Given the description of an element on the screen output the (x, y) to click on. 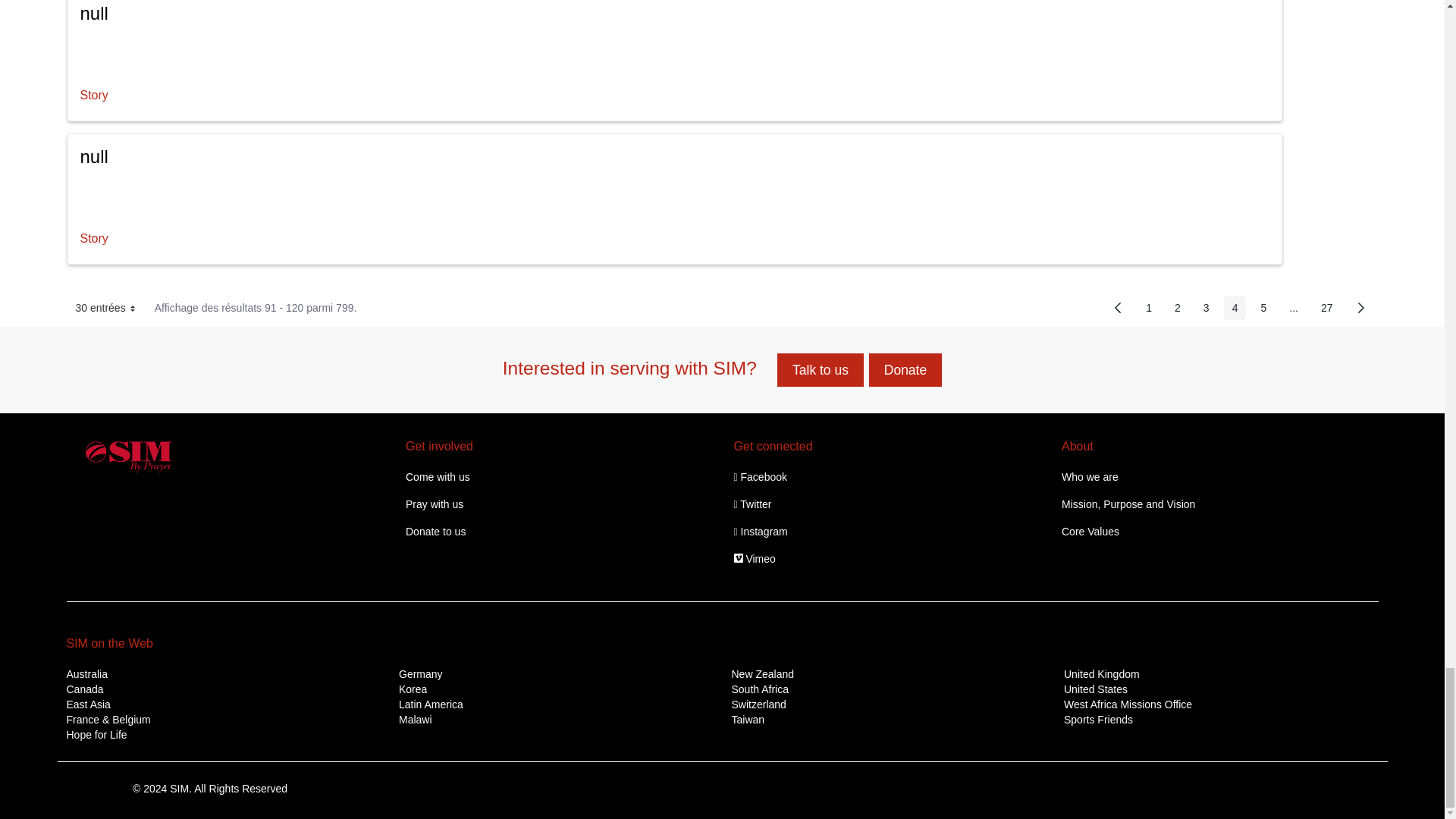
Prochaine Page (1361, 307)
